Given the description of an element on the screen output the (x, y) to click on. 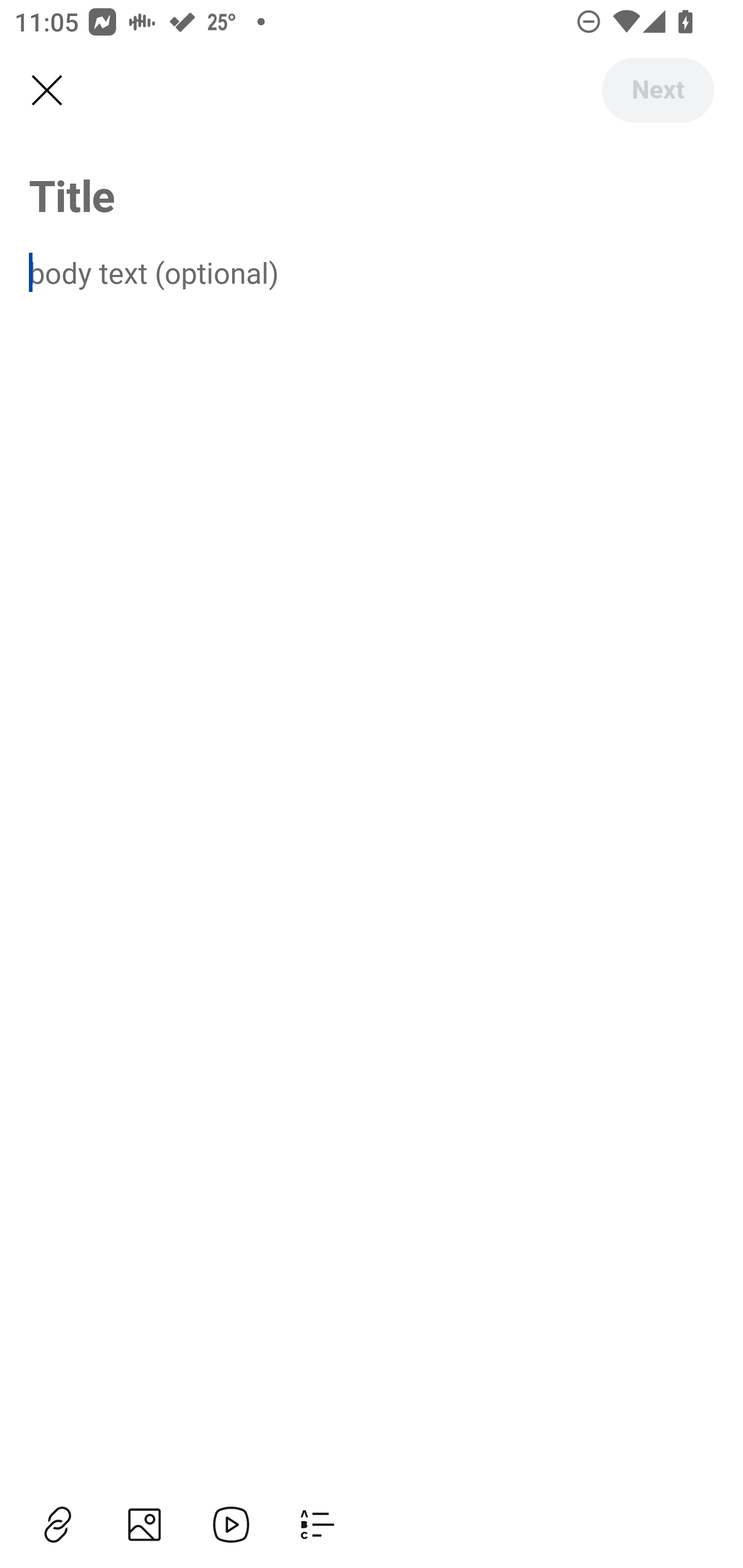
Close (46, 90)
Next (657, 90)
Post title (371, 195)
body text (optional) (371, 271)
